Given the description of an element on the screen output the (x, y) to click on. 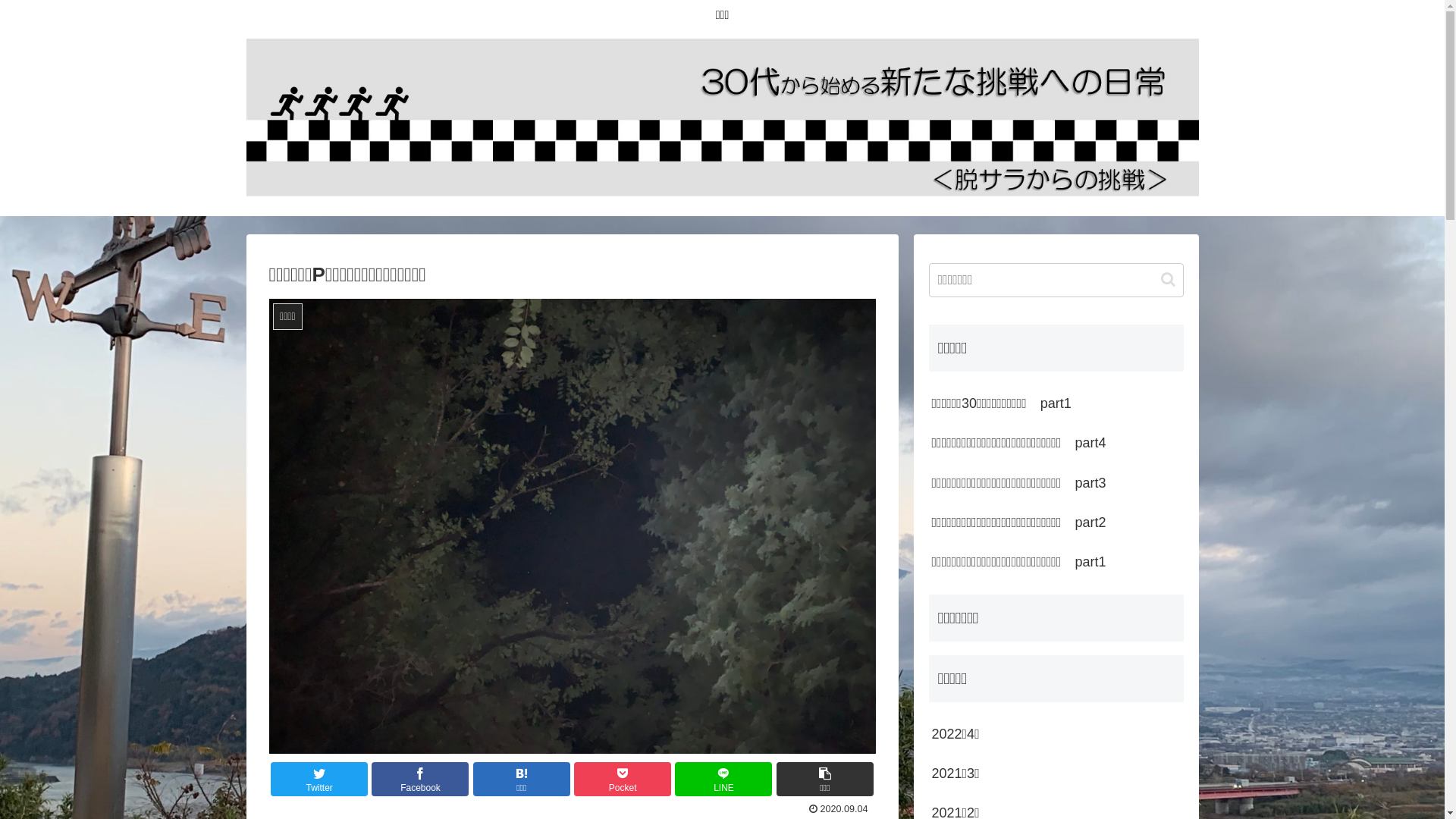
Pocket Element type: text (622, 779)
Twitter Element type: text (318, 779)
LINE Element type: text (722, 779)
Facebook Element type: text (419, 779)
